Given the description of an element on the screen output the (x, y) to click on. 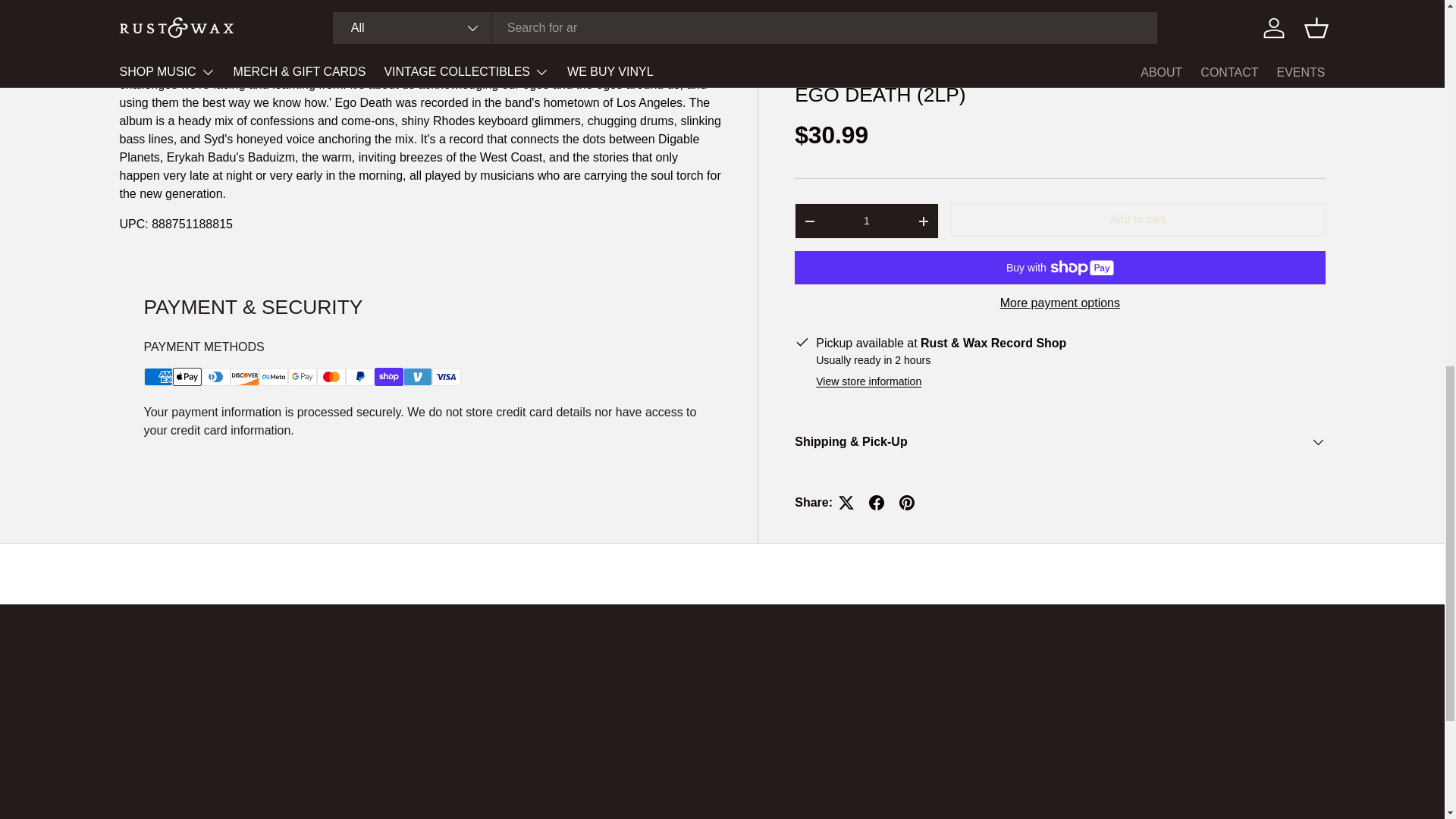
American Express (158, 376)
Apple Pay (187, 376)
Diners Club (216, 376)
Google Pay (302, 376)
Mastercard (331, 376)
Meta Pay (273, 376)
Discover (244, 376)
